Given the description of an element on the screen output the (x, y) to click on. 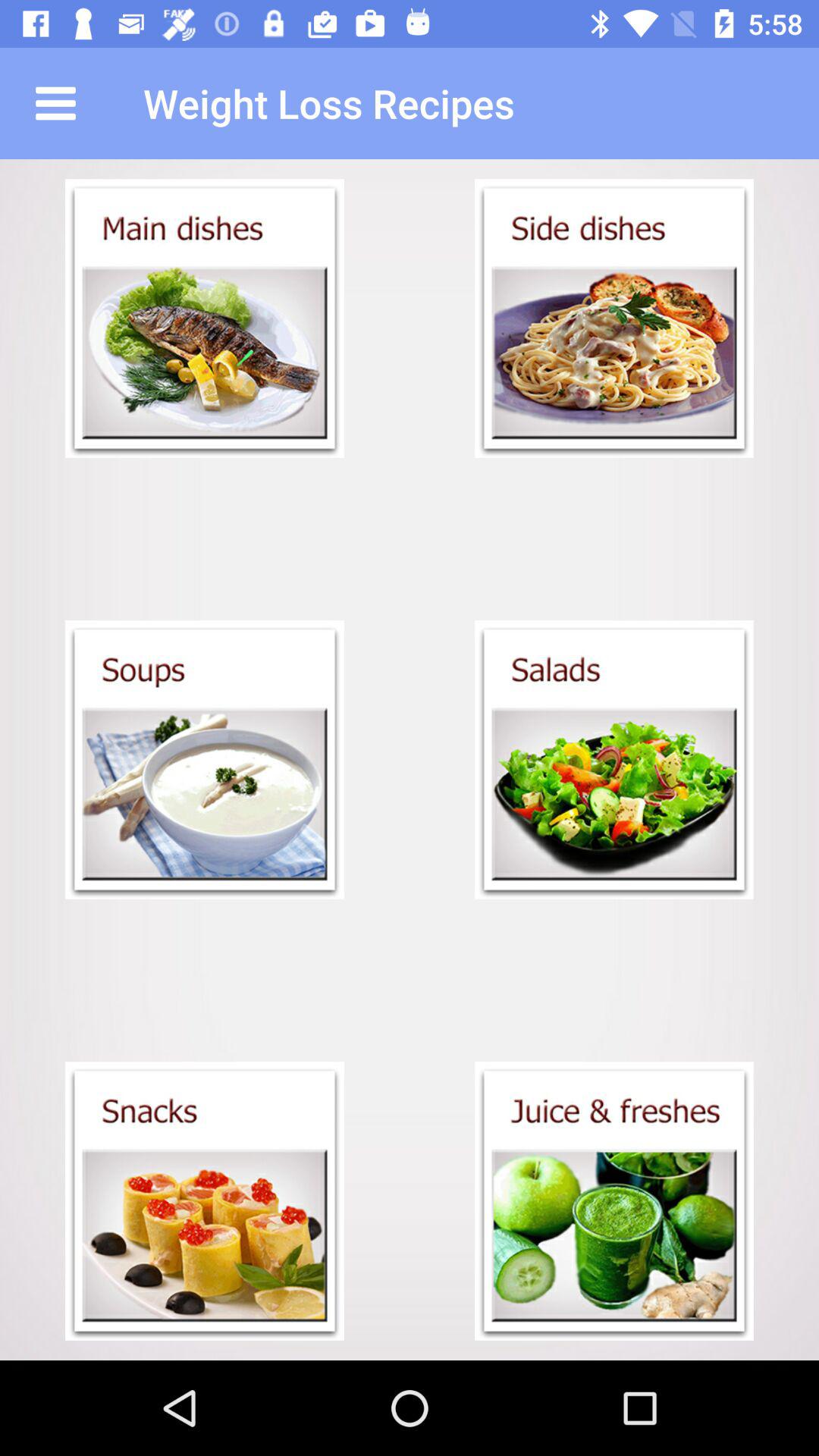
see soup recipes (204, 759)
